Given the description of an element on the screen output the (x, y) to click on. 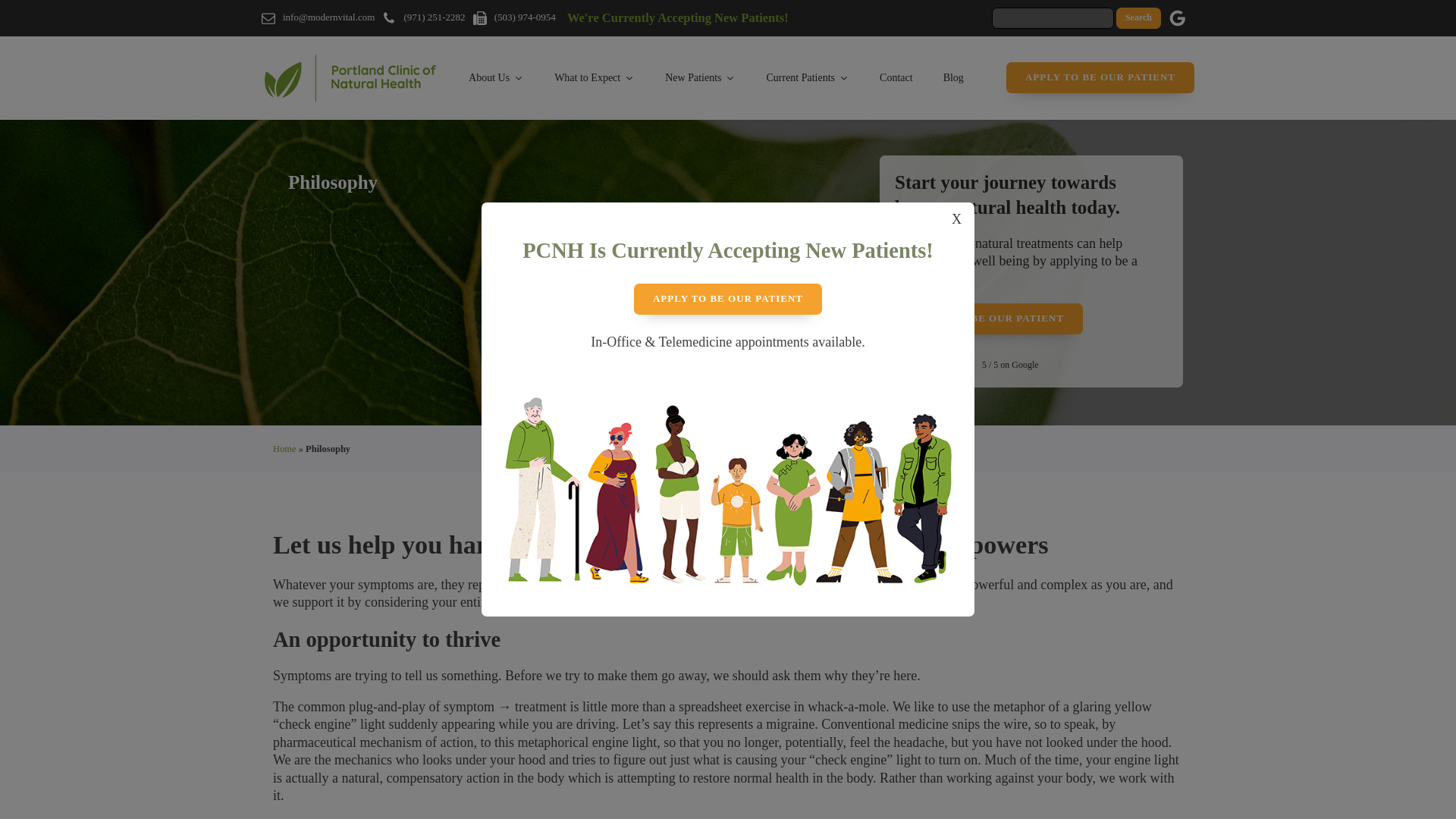
New Patients (700, 77)
Current Patients (807, 77)
About Us (495, 77)
What to Expect (593, 77)
Search (1138, 17)
Search (1138, 17)
